Given the description of an element on the screen output the (x, y) to click on. 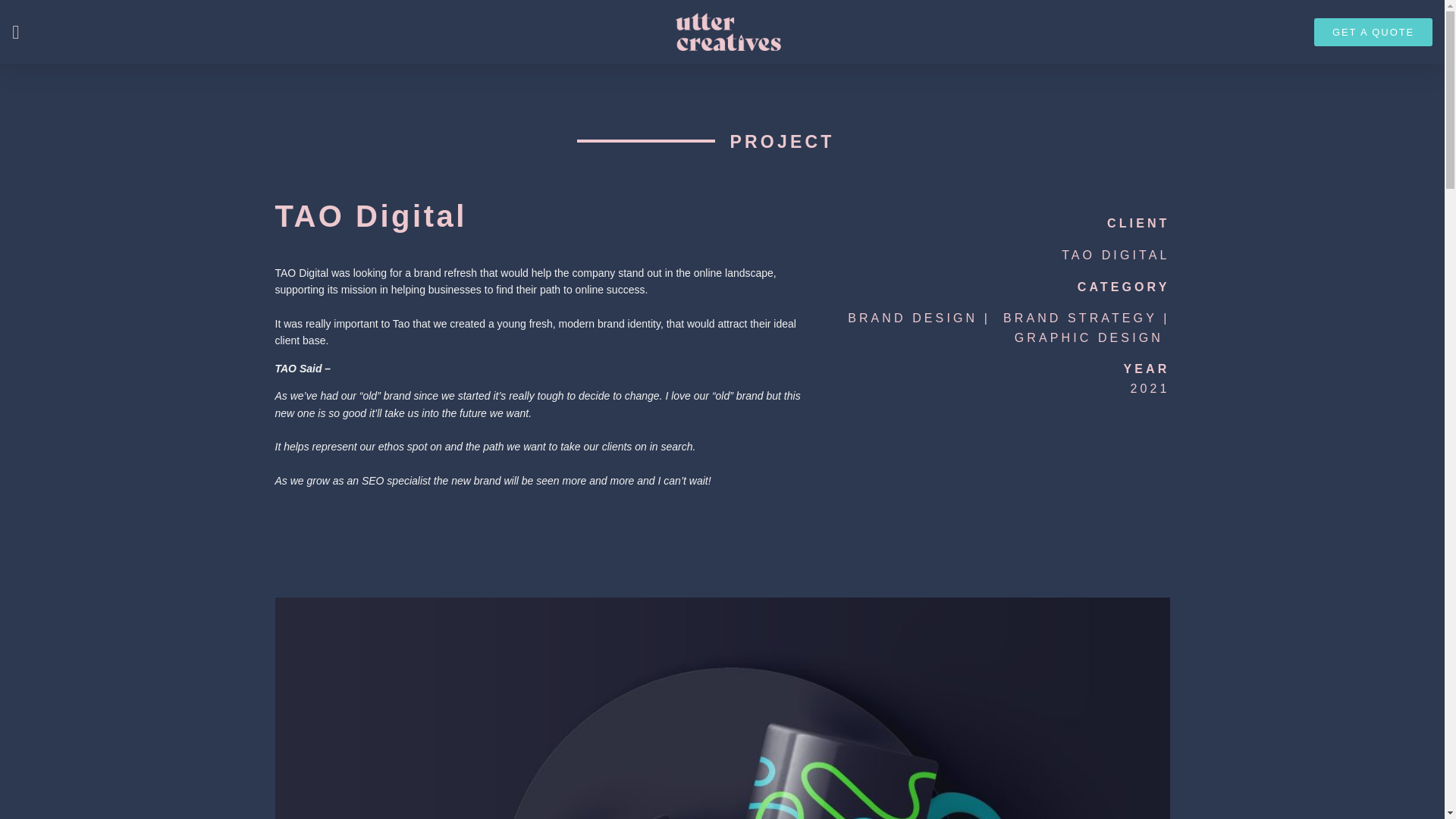
cropped-New-Brand-identity3.png (727, 31)
GET A QUOTE (1373, 31)
